Given the description of an element on the screen output the (x, y) to click on. 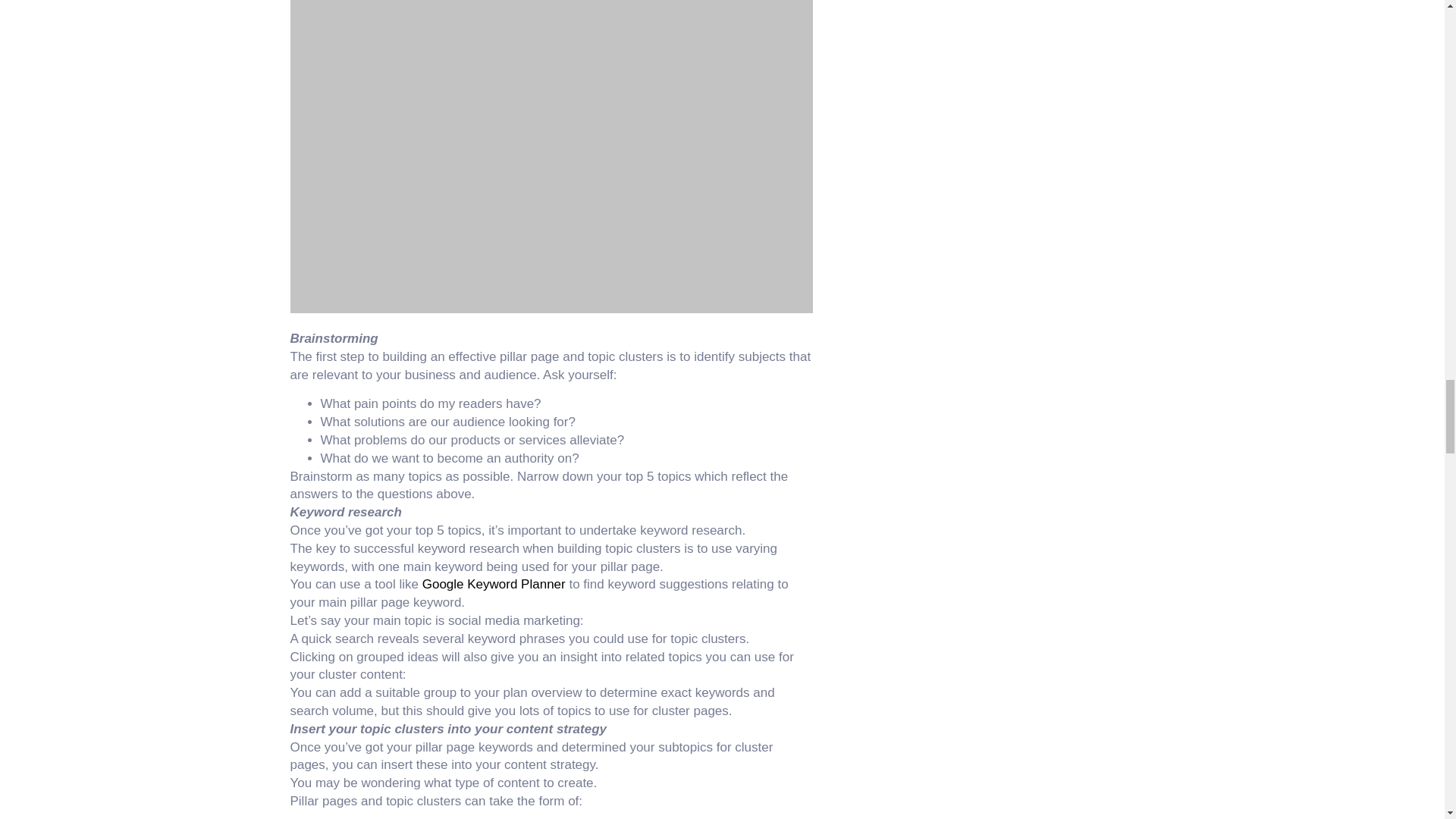
Google Keyword Planner (494, 584)
